Given the description of an element on the screen output the (x, y) to click on. 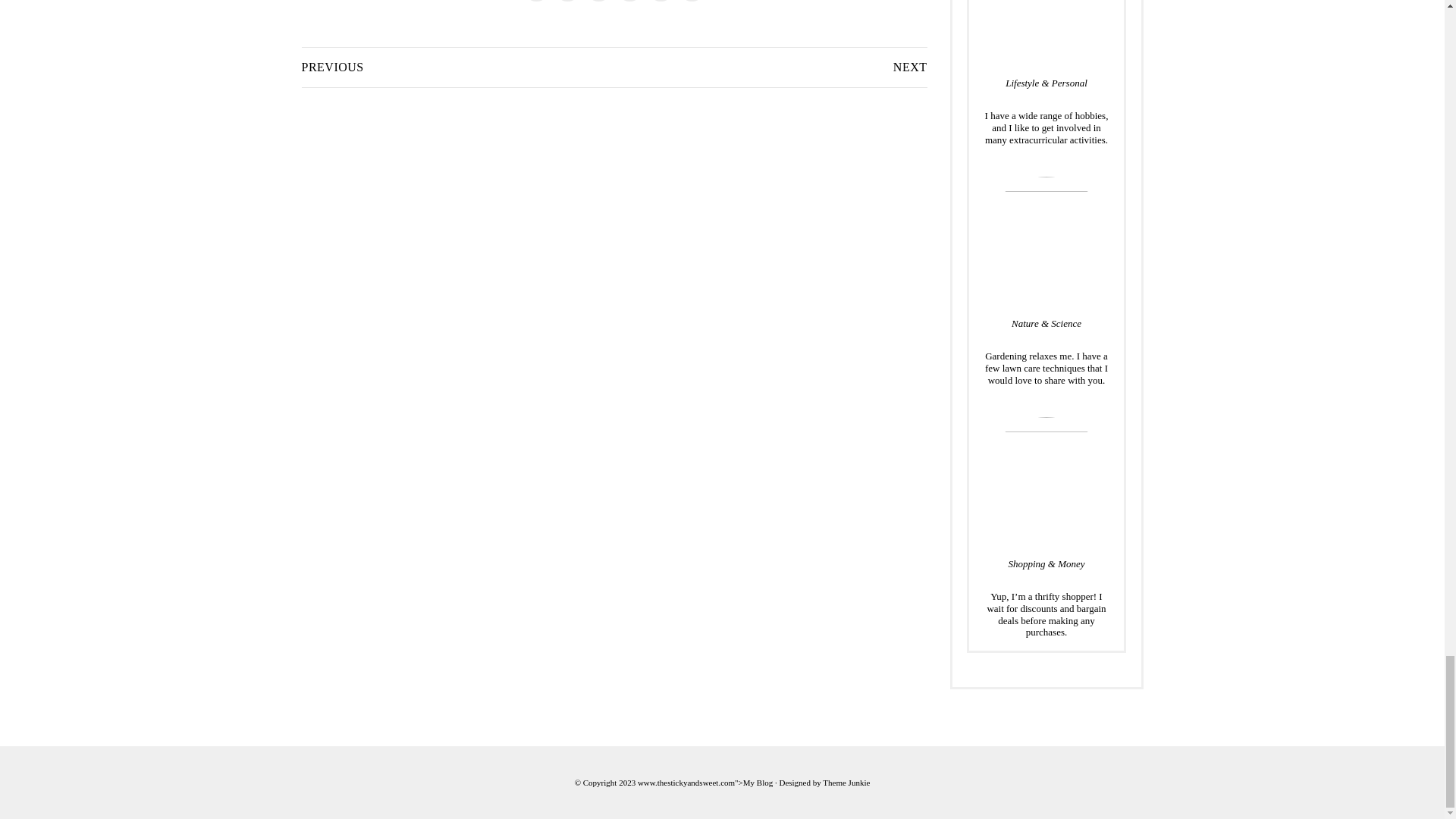
Pinterest (661, 0)
PREVIOUS (332, 66)
Email (692, 0)
Facebook (567, 0)
NEXT (910, 66)
Twitter (536, 0)
LinkedIn (629, 0)
